Given the description of an element on the screen output the (x, y) to click on. 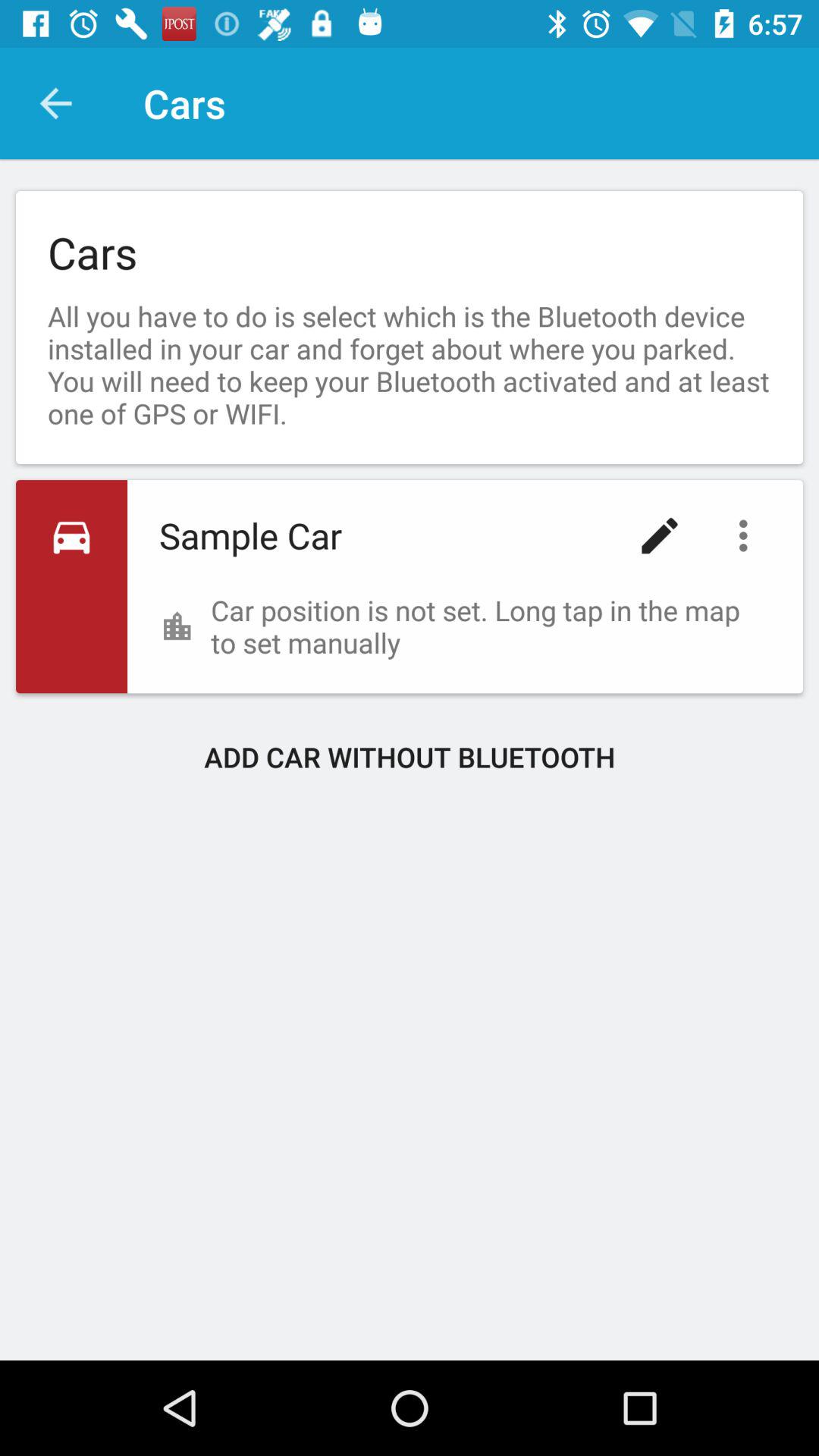
click item next to cars icon (55, 103)
